Given the description of an element on the screen output the (x, y) to click on. 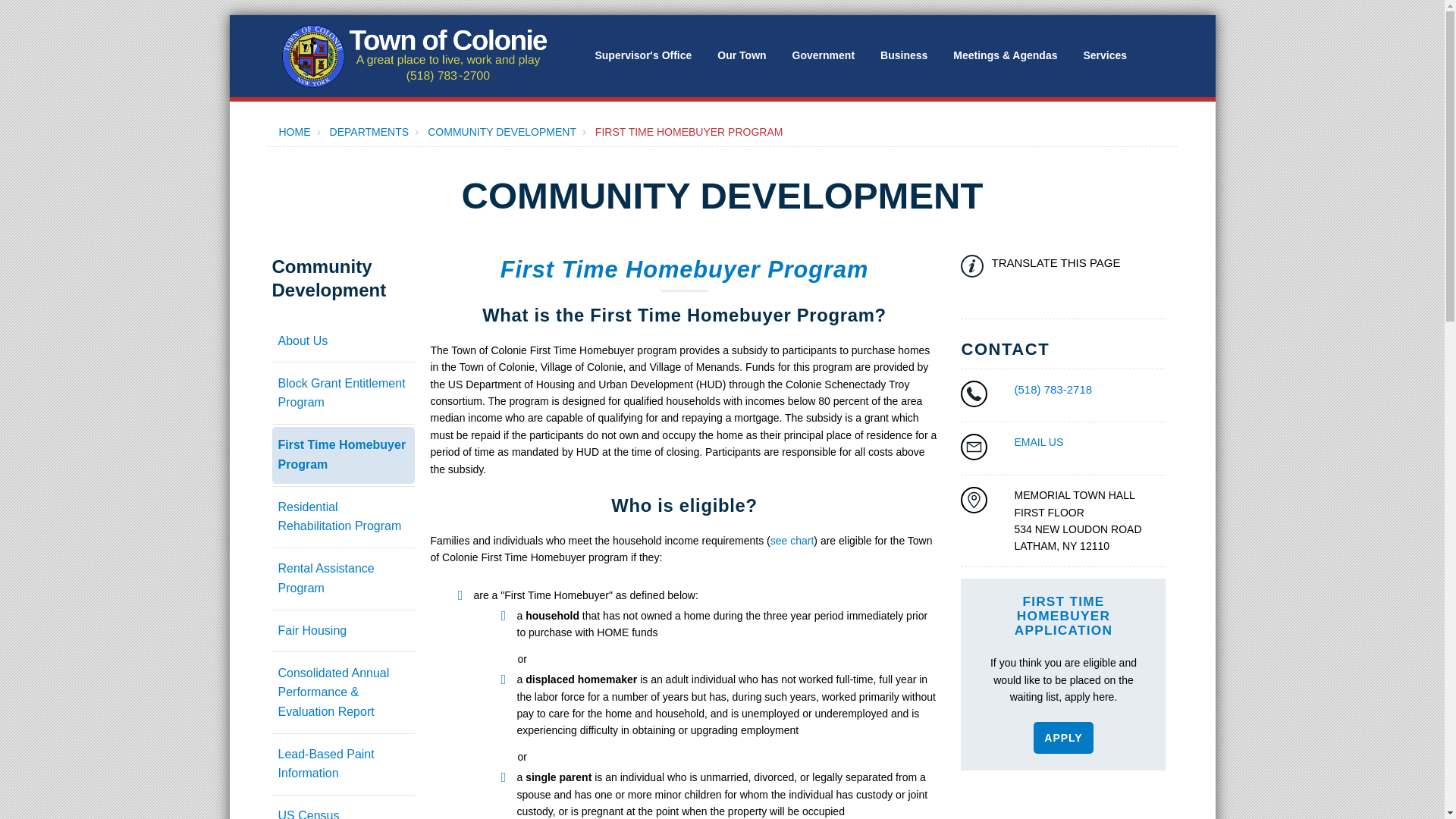
Supervisor's Office (642, 55)
see chart (791, 540)
Government (822, 55)
Our Town (741, 55)
